Given the description of an element on the screen output the (x, y) to click on. 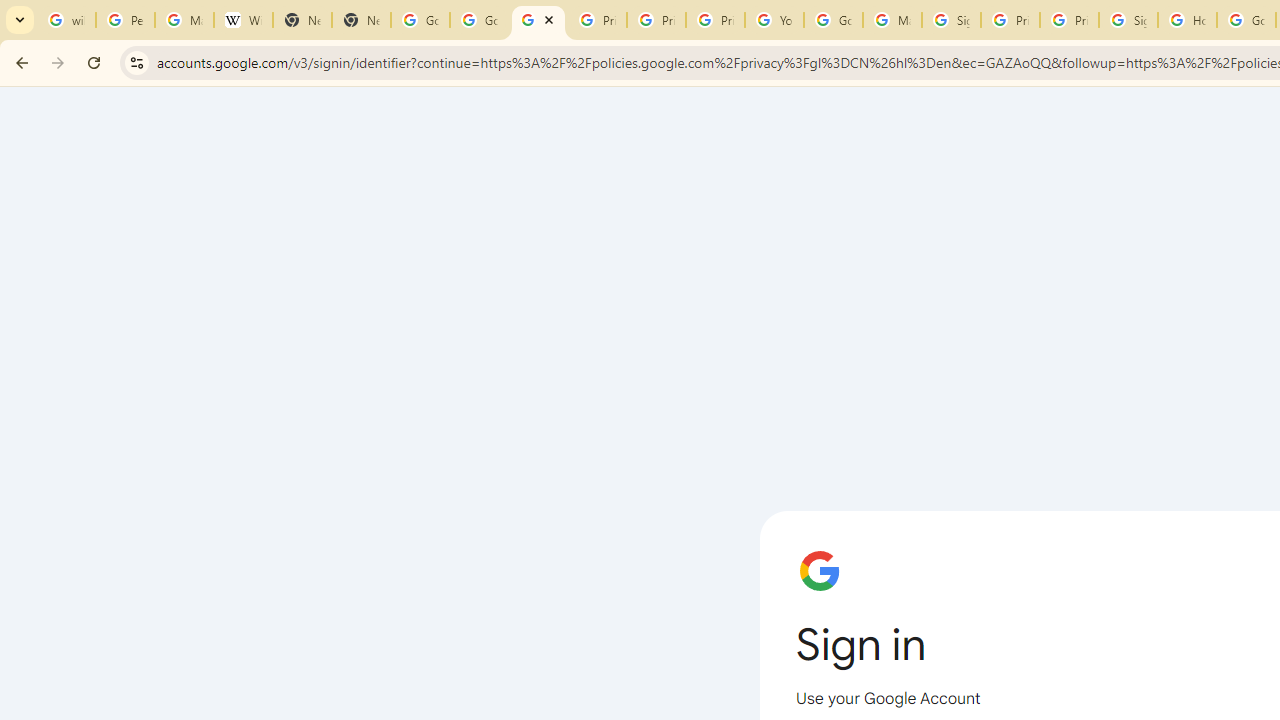
New Tab (360, 20)
Manage your Location History - Google Search Help (183, 20)
Sign in - Google Accounts (1128, 20)
Sign in - Google Accounts (538, 20)
Sign in - Google Accounts (950, 20)
Wikipedia:Edit requests - Wikipedia (242, 20)
Personalization & Google Search results - Google Search Help (125, 20)
Google Account Help (832, 20)
